Given the description of an element on the screen output the (x, y) to click on. 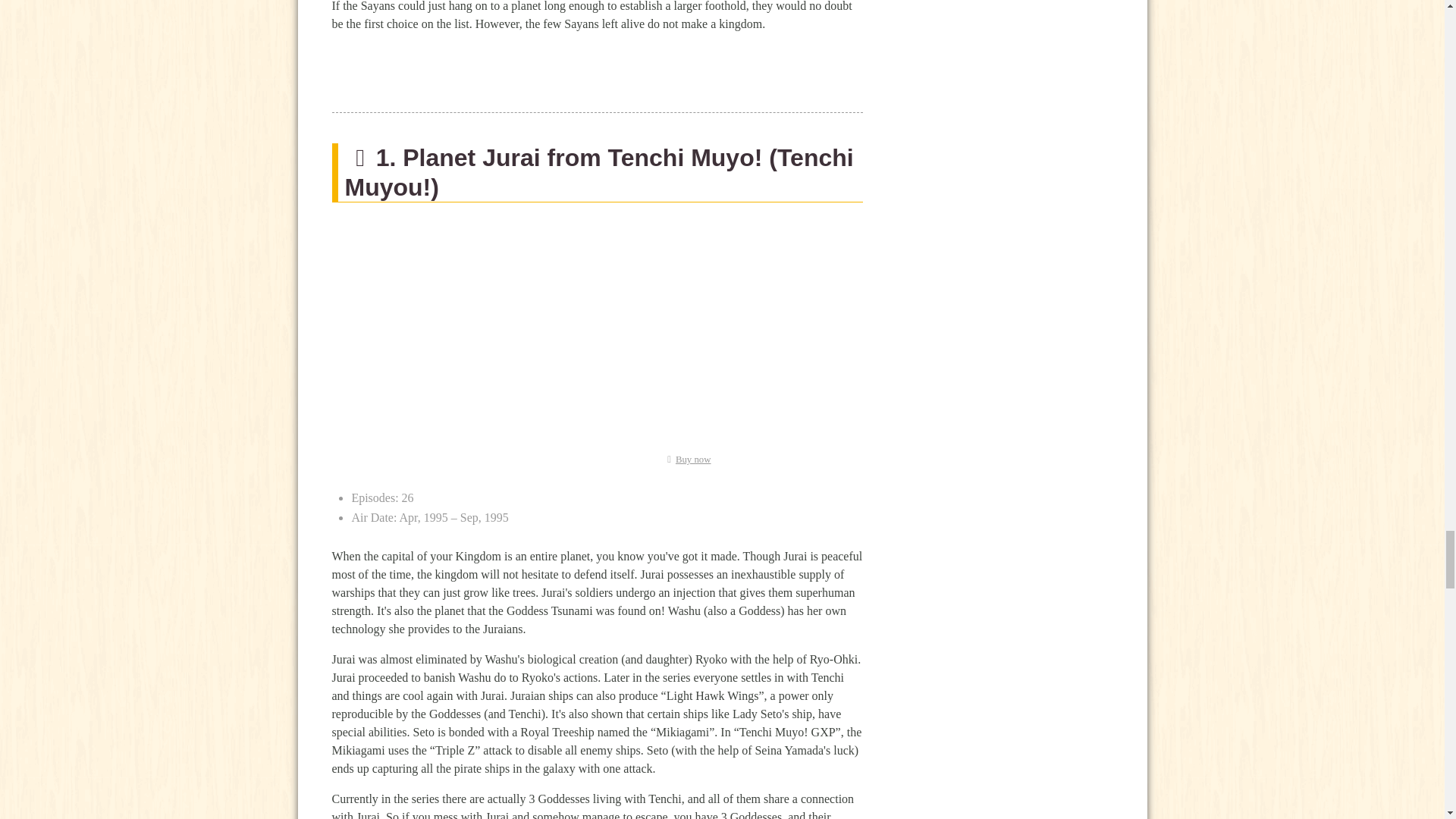
Buy now (686, 459)
